Given the description of an element on the screen output the (x, y) to click on. 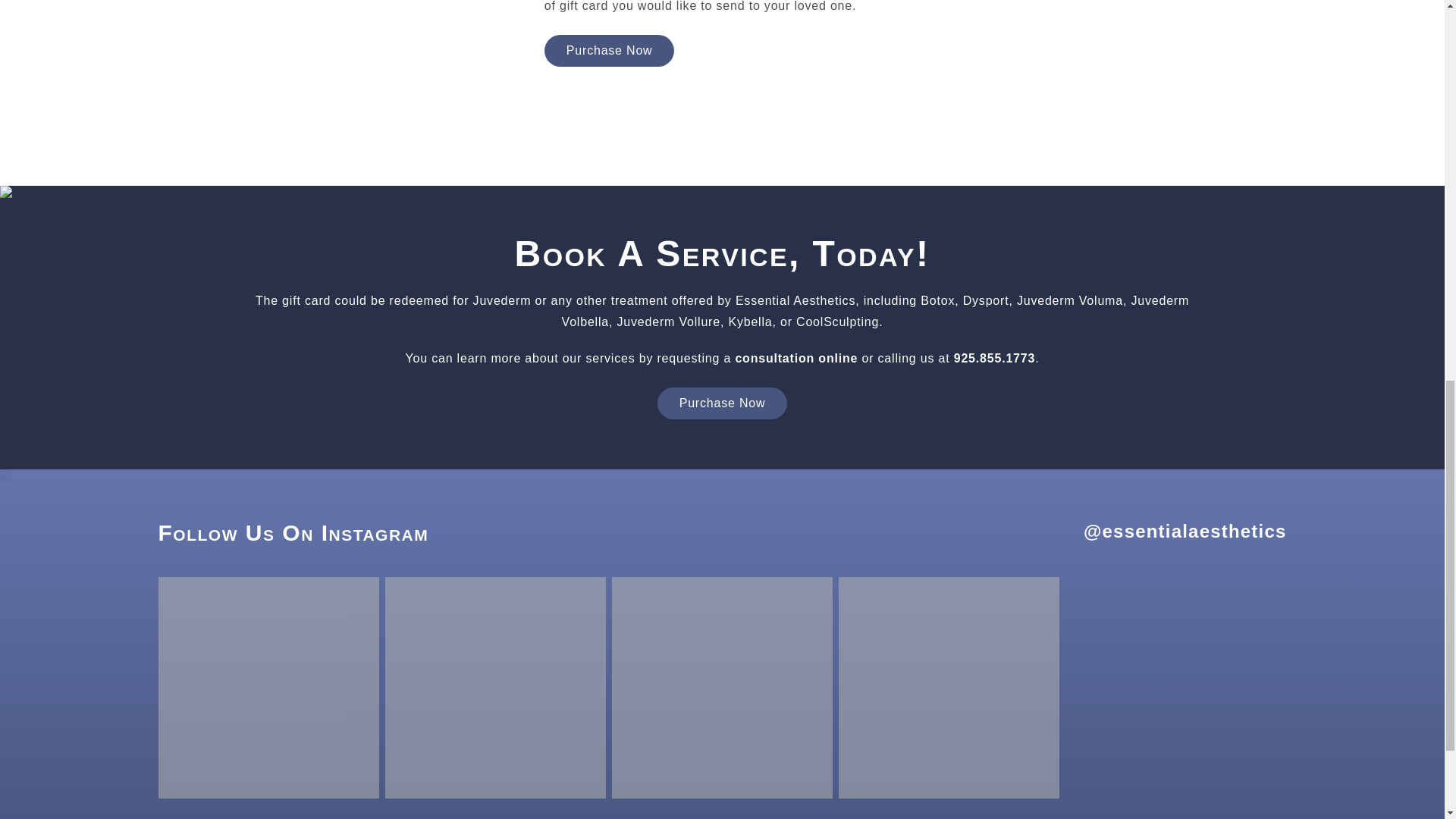
925.855.1773 (994, 358)
consultation online (796, 358)
Purchase Now (722, 403)
Purchase Now (609, 50)
